Given the description of an element on the screen output the (x, y) to click on. 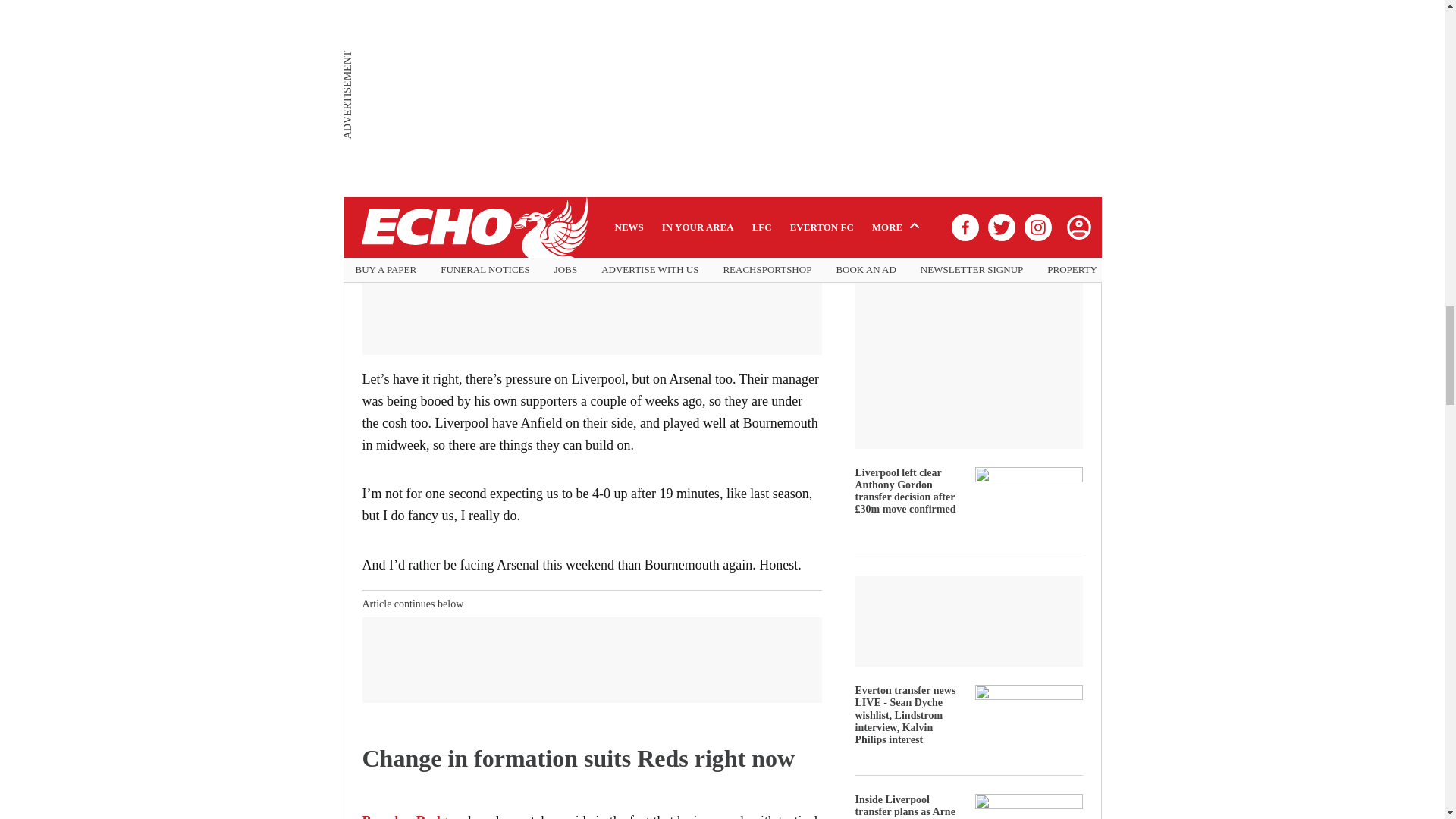
Brendan Rodgers (413, 816)
